Given the description of an element on the screen output the (x, y) to click on. 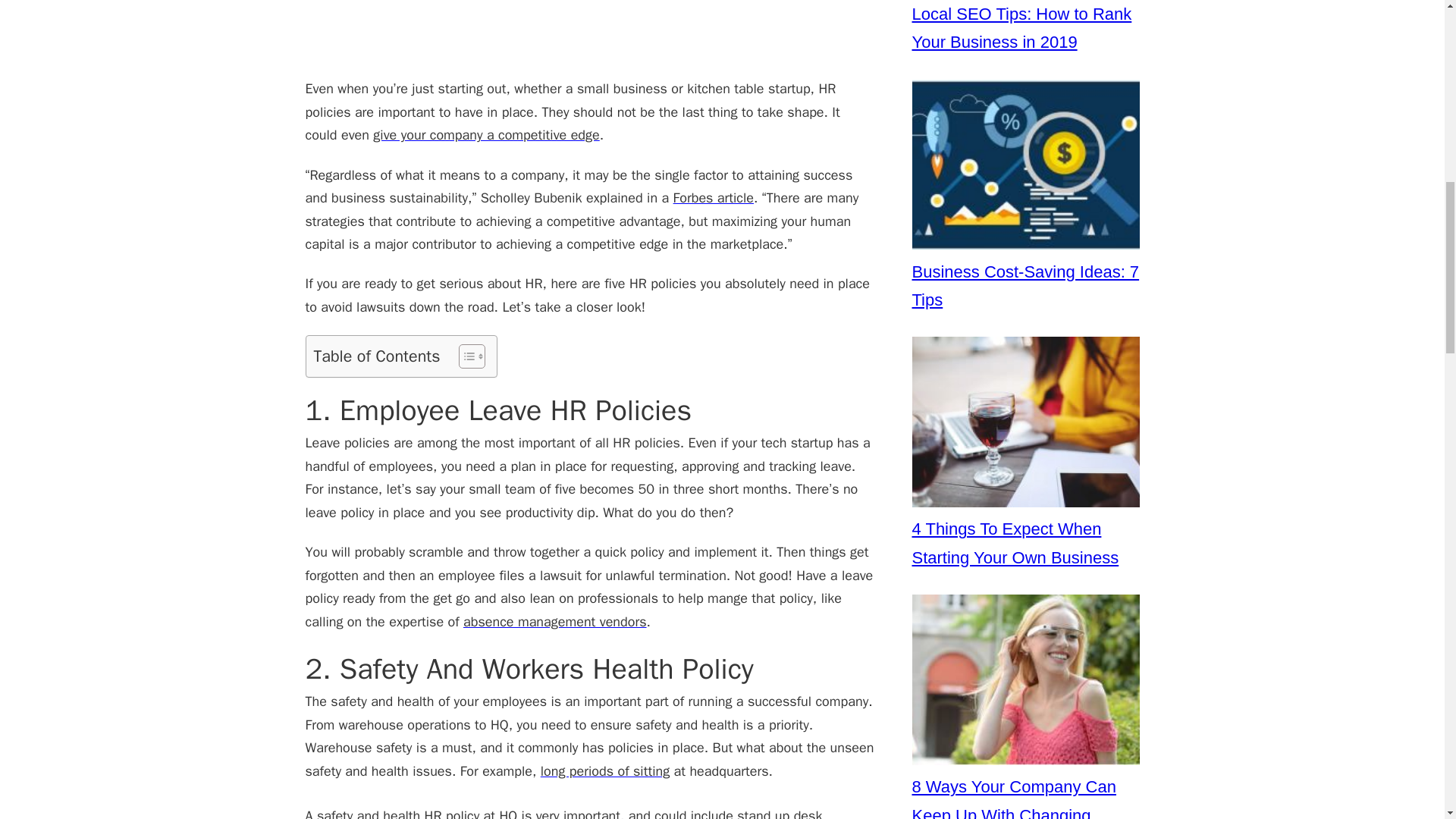
long periods of sitting (604, 770)
give your company a competitive edge (485, 134)
Advertisement (588, 38)
absence management vendors (554, 621)
Forbes article (713, 197)
